Given the description of an element on the screen output the (x, y) to click on. 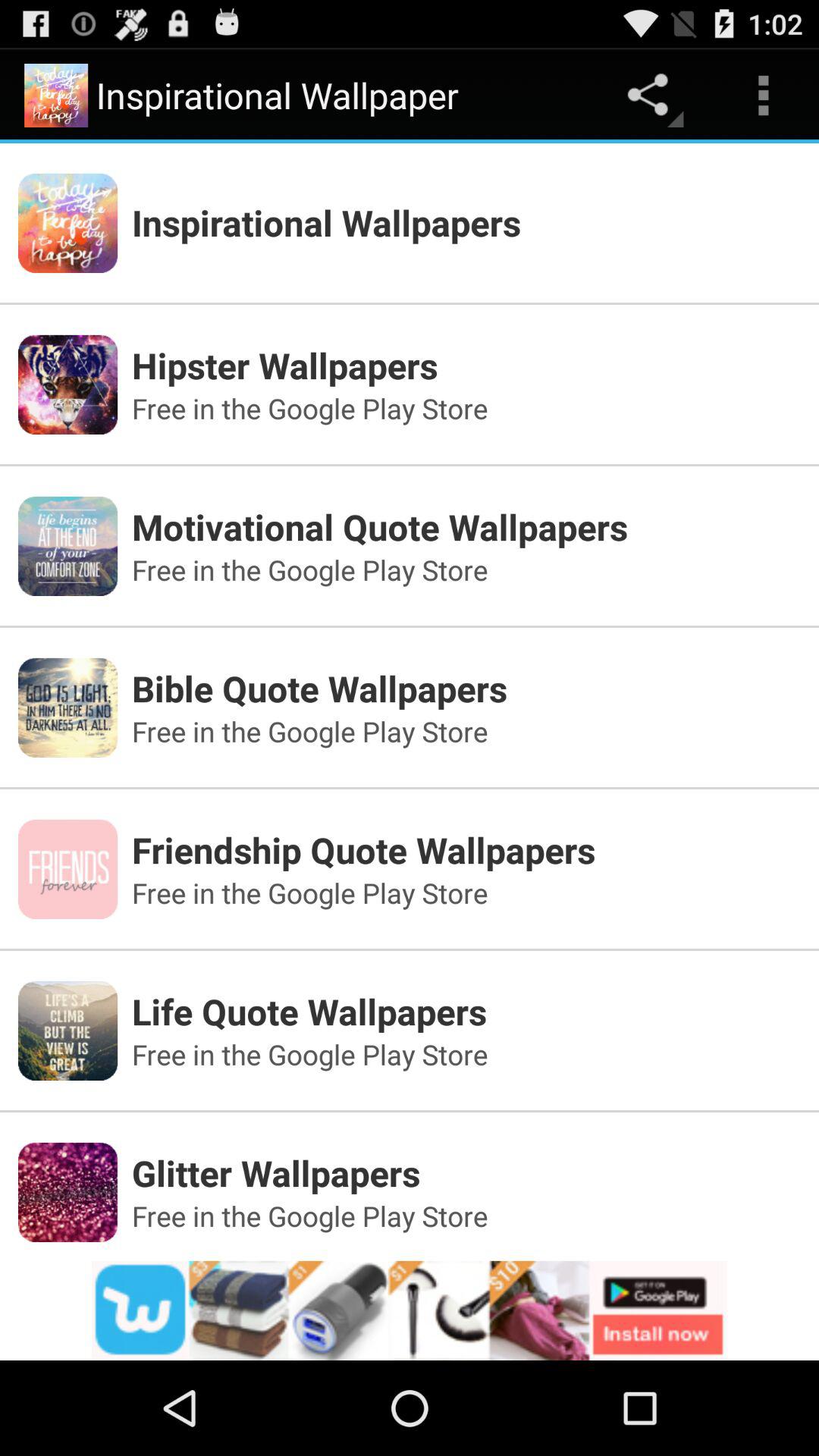
its an advertisement (409, 1310)
